Given the description of an element on the screen output the (x, y) to click on. 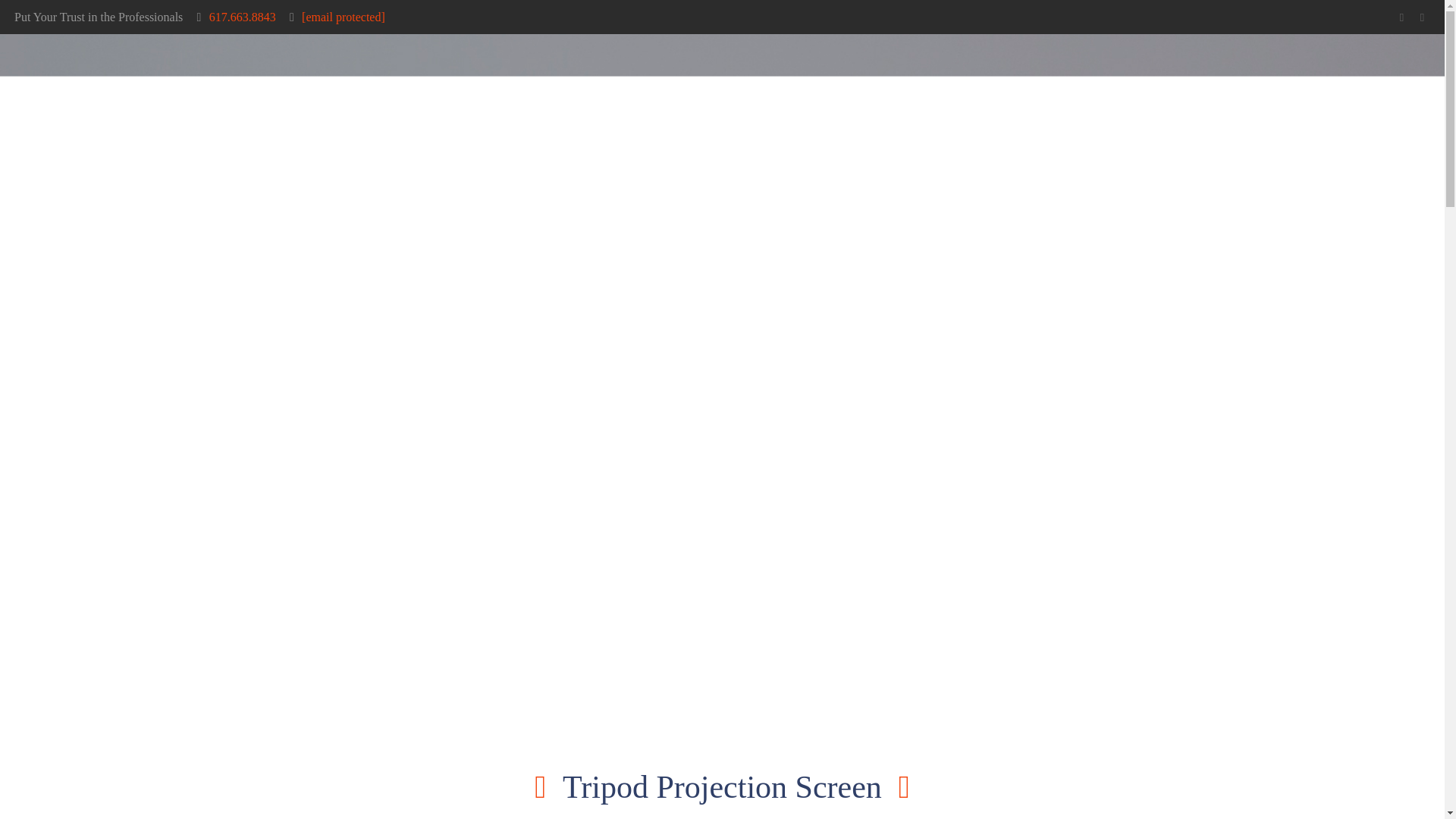
Facebook (1401, 17)
Instagram (1421, 17)
